Given the description of an element on the screen output the (x, y) to click on. 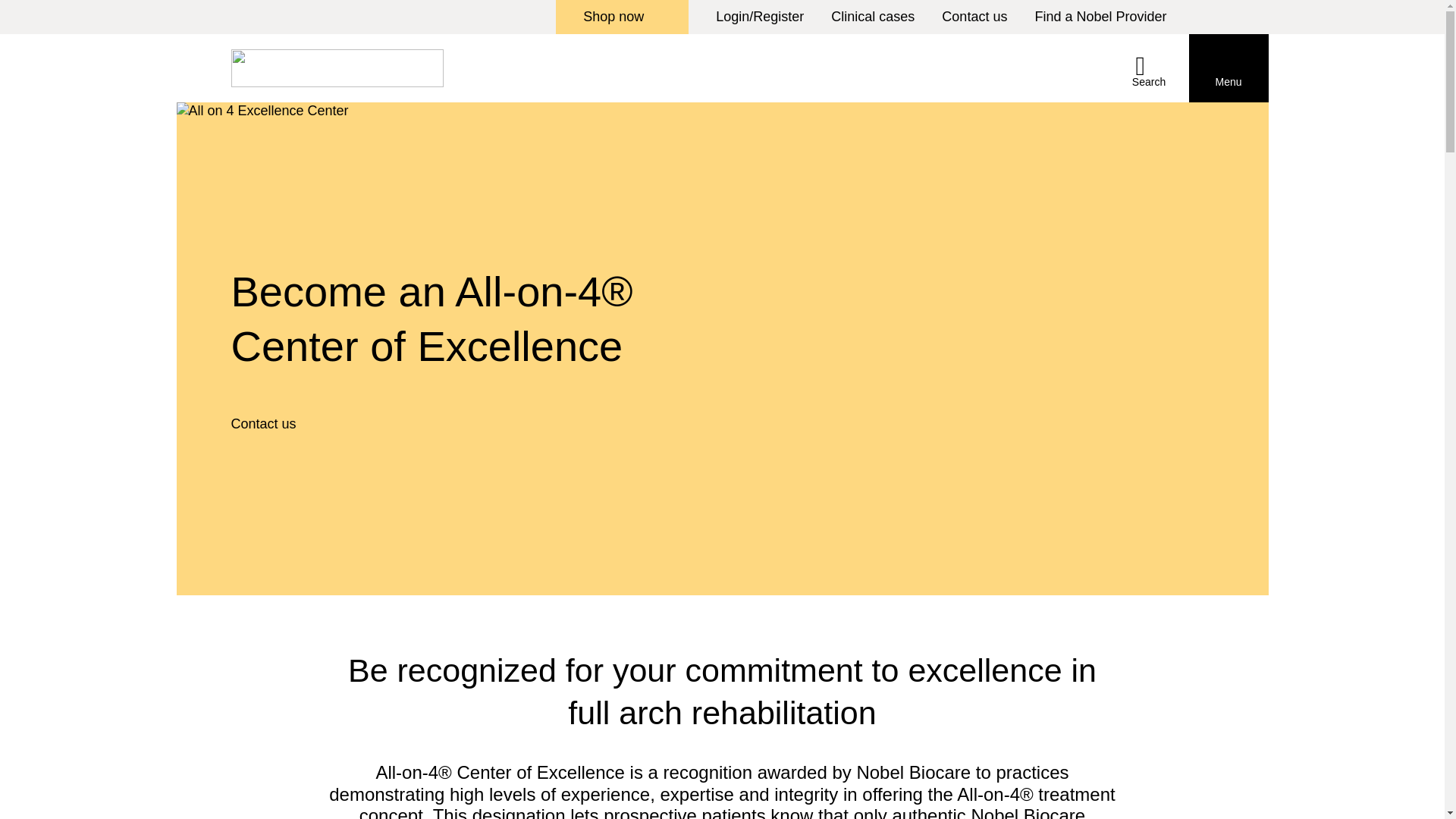
Select your country (1223, 17)
Menu (1228, 68)
Contact us (974, 16)
Clinical cases (872, 16)
Shop now (622, 17)
Find a Nobel Provider (1099, 16)
Select your country (1223, 17)
Search (1148, 68)
